Given the description of an element on the screen output the (x, y) to click on. 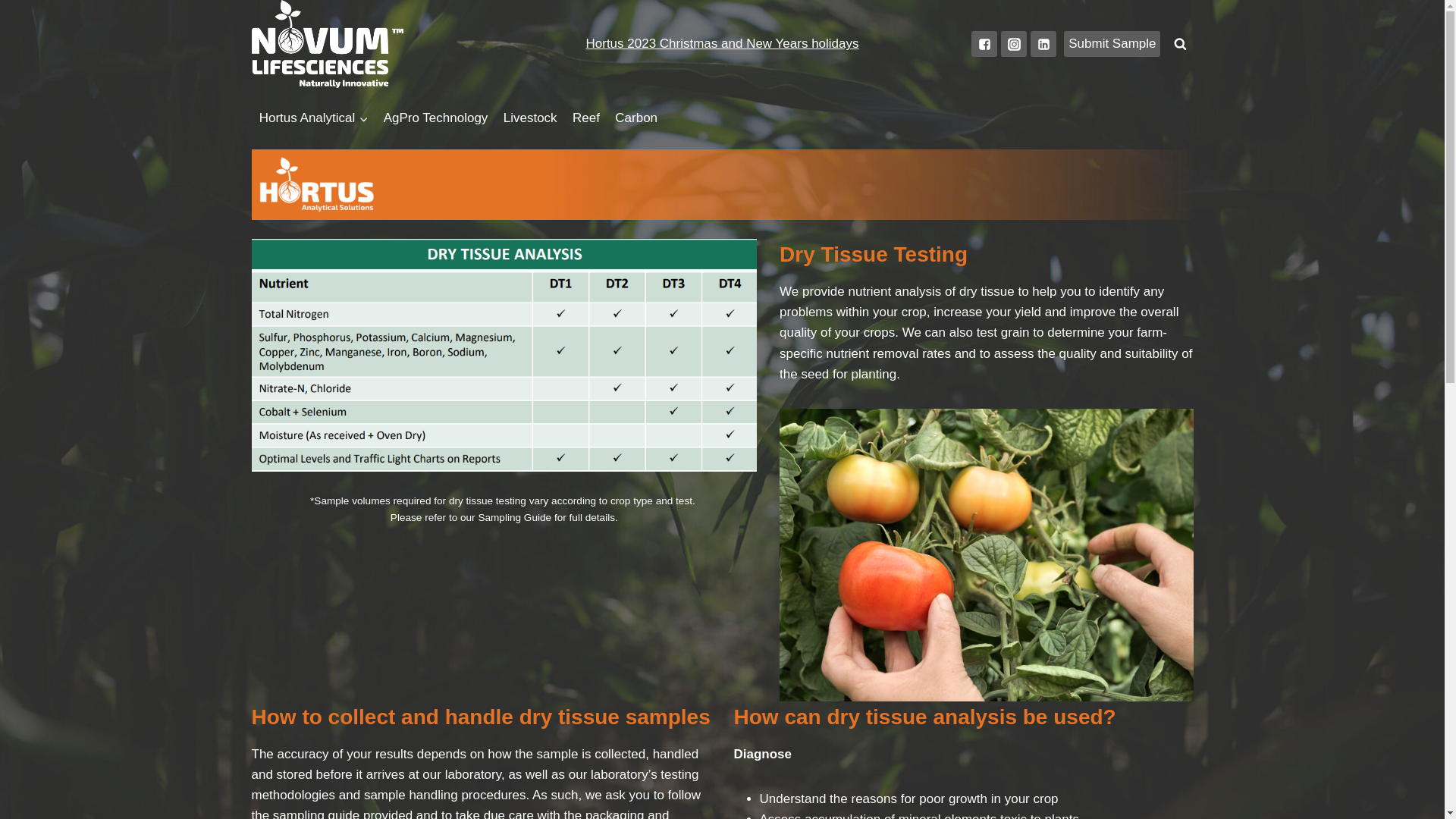
AgPro Technology Element type: text (435, 118)
Hortus 2023 Christmas and New Years holidays Element type: text (721, 43)
Hortus Analytical Element type: text (313, 118)
Carbon Element type: text (636, 118)
Livestock Element type: text (529, 118)
Submit Sample Element type: text (1111, 43)
Reef Element type: text (585, 118)
